Given the description of an element on the screen output the (x, y) to click on. 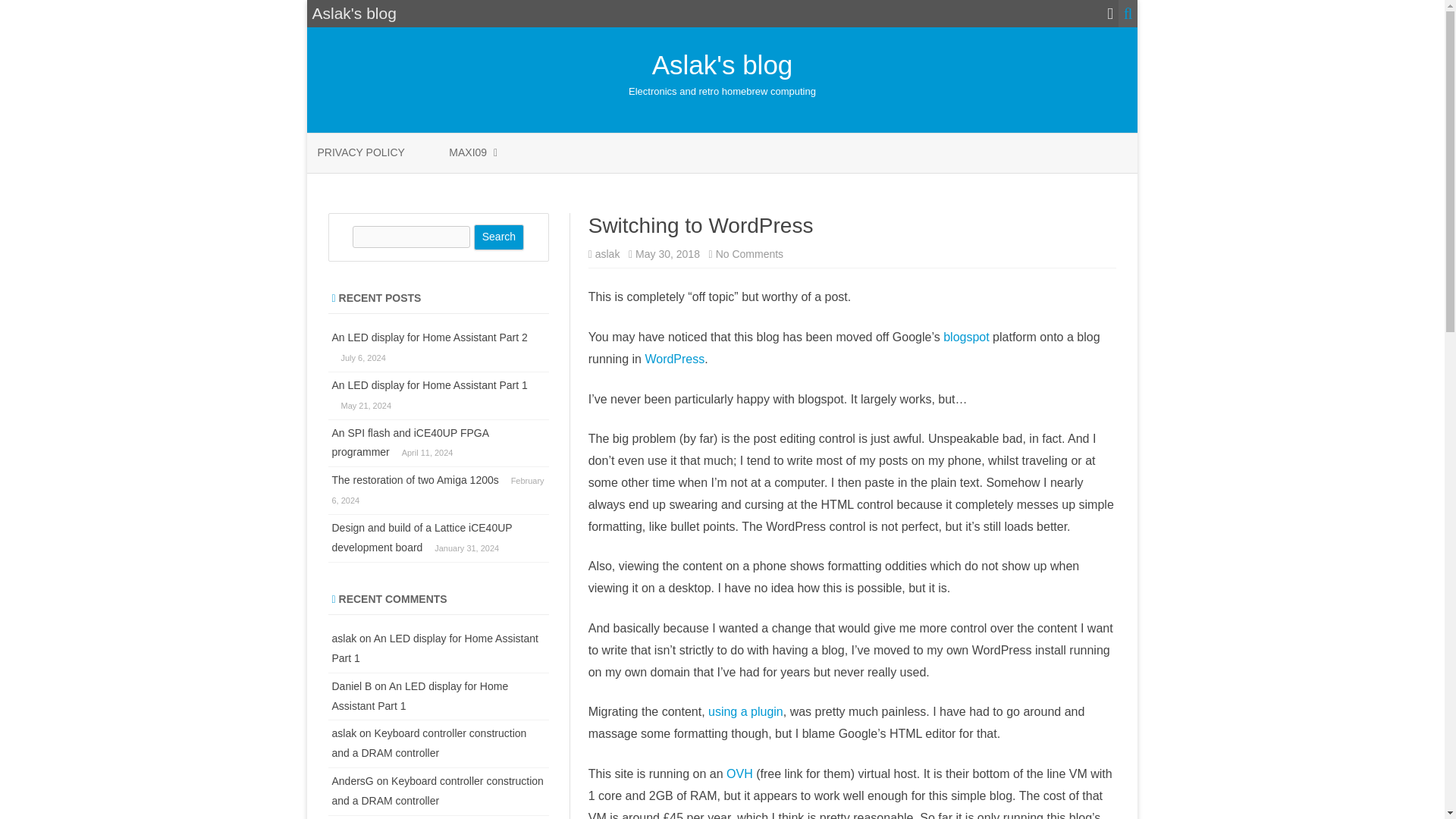
MAXI09 (467, 152)
using a plugin (745, 711)
Design and build of a Lattice iCE40UP development board (421, 537)
Daniel B (351, 686)
An SPI flash and iCE40UP FPGA programmer (749, 254)
An LED display for Home Assistant Part 1 (410, 442)
An LED display for Home Assistant Part 2 (434, 648)
An LED display for Home Assistant Part 1 (429, 337)
Aslak's blog (429, 385)
